Given the description of an element on the screen output the (x, y) to click on. 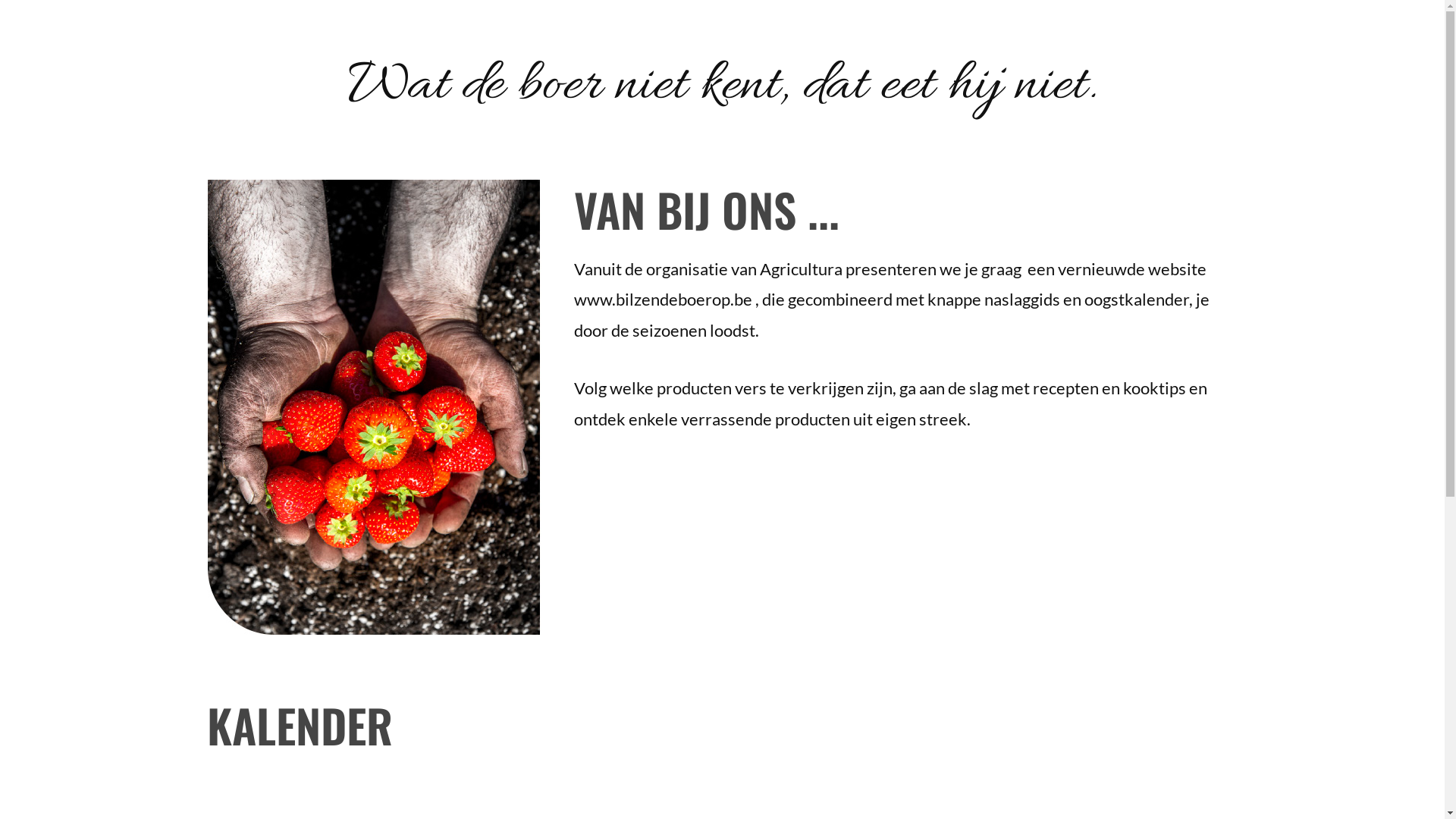
aardbeien Element type: hover (374, 406)
